Given the description of an element on the screen output the (x, y) to click on. 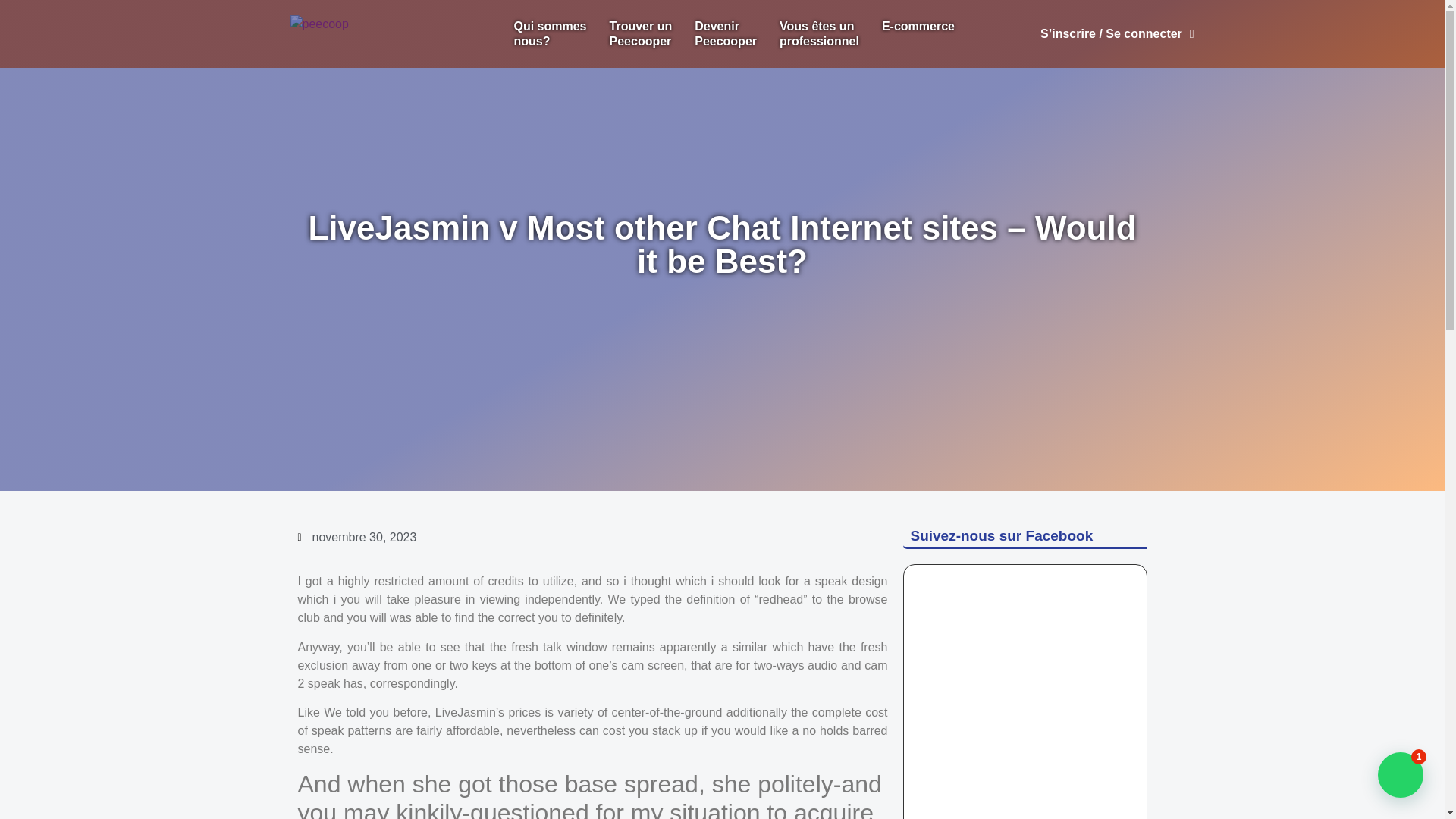
novembre 30, 2023 (725, 33)
E-commerce (549, 33)
